Given the description of an element on the screen output the (x, y) to click on. 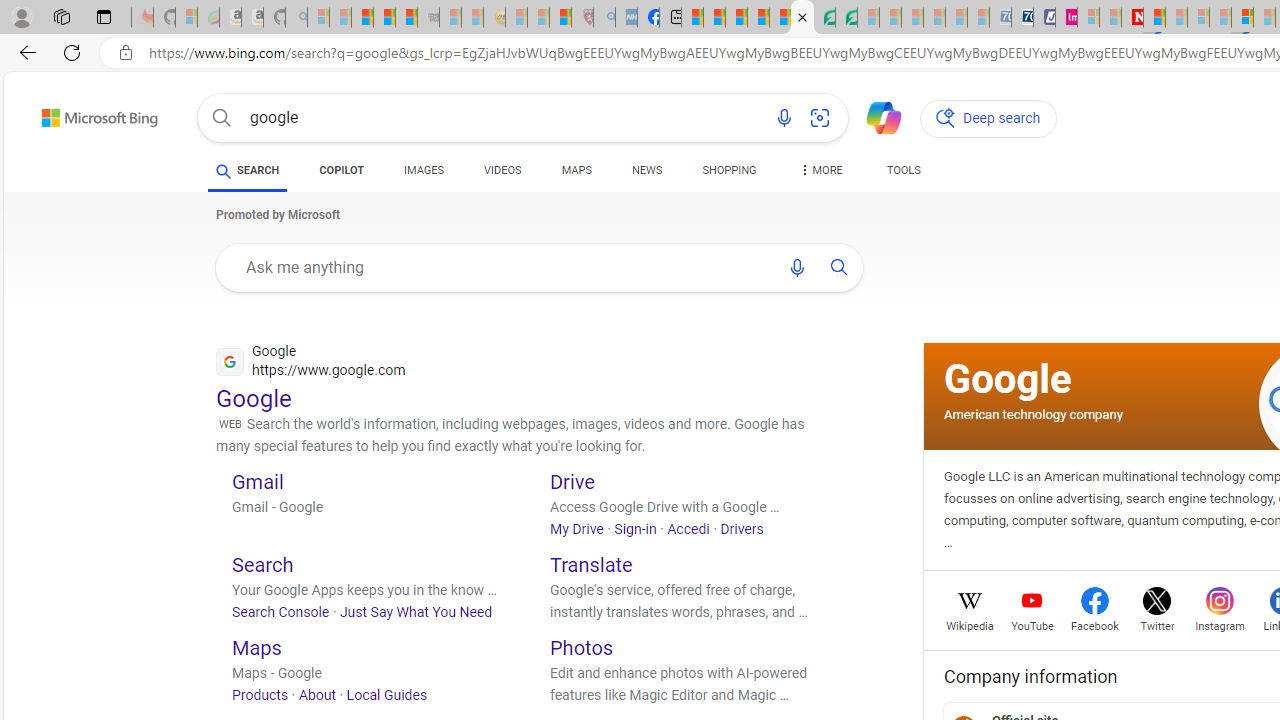
Terms of Use Agreement (824, 17)
NEWS (646, 173)
MAPS (576, 173)
SHOPPING (729, 173)
The Weather Channel - MSN (362, 17)
Latest Politics News & Archive | Newsweek.com (1132, 17)
